Given the description of an element on the screen output the (x, y) to click on. 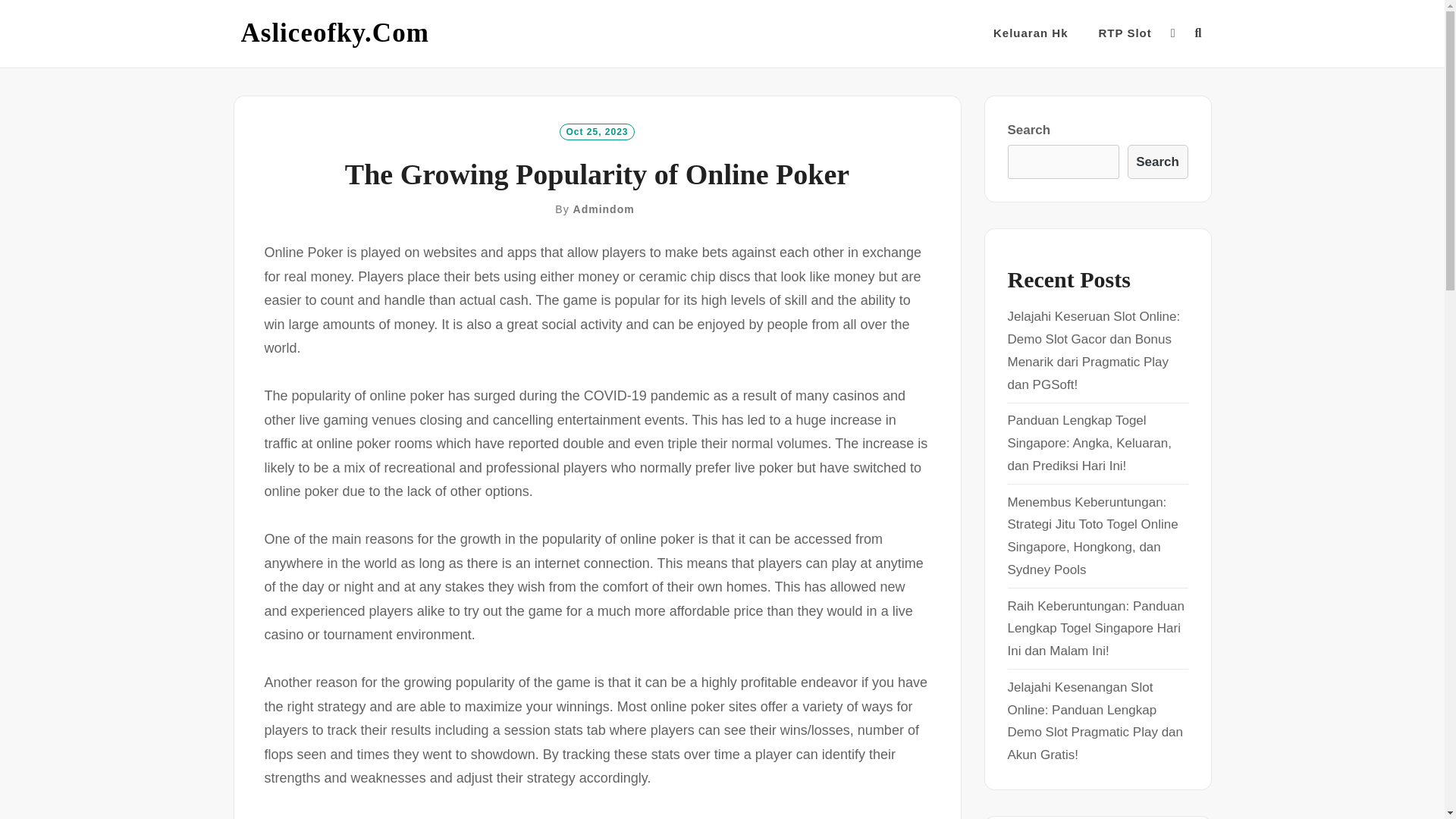
Oct 25, 2023 (596, 130)
Asliceofky.Com (335, 33)
Search (1157, 161)
Admindom (603, 209)
Keluaran Hk (1030, 33)
